Given the description of an element on the screen output the (x, y) to click on. 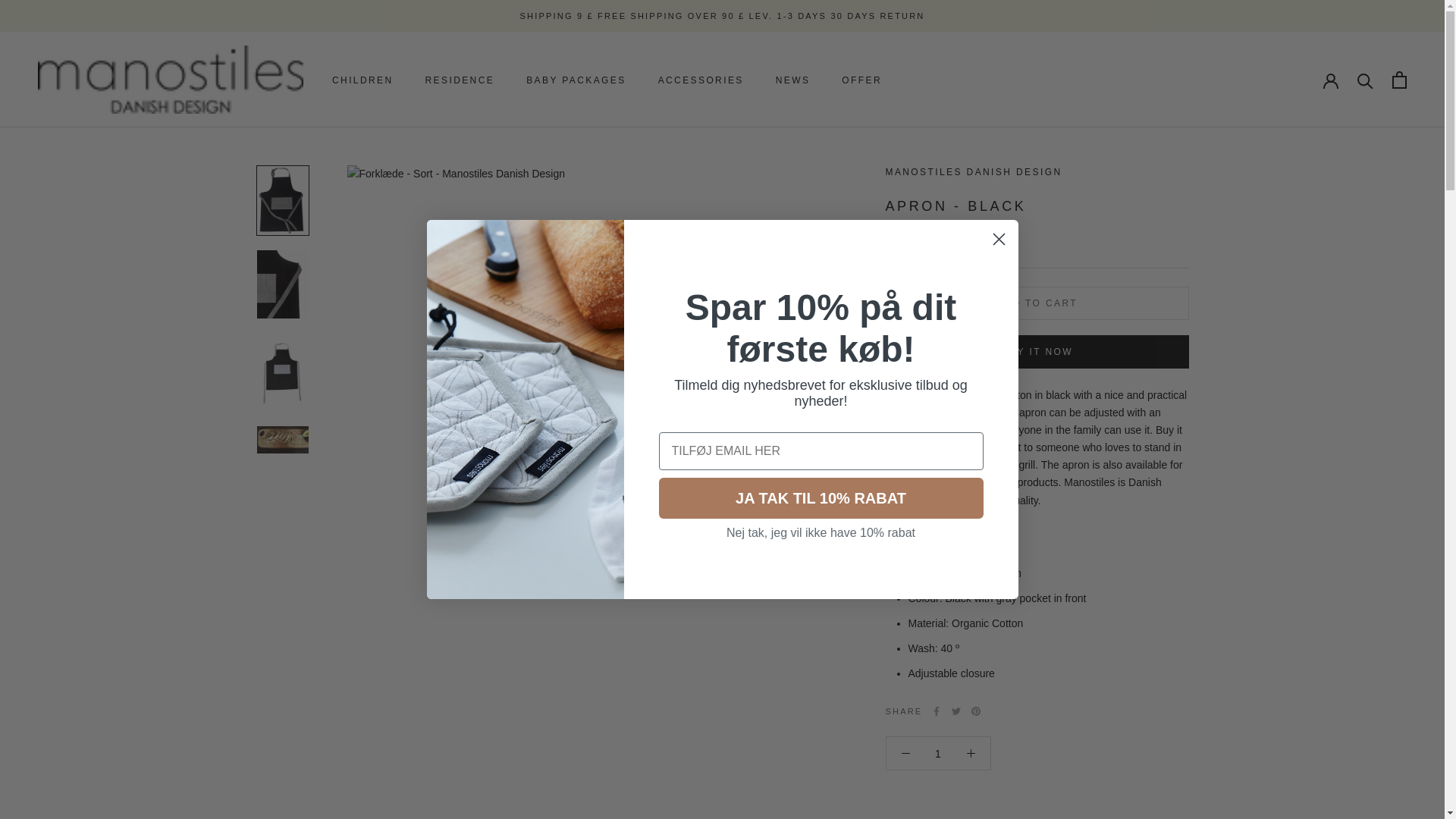
1 (938, 753)
